Given the description of an element on the screen output the (x, y) to click on. 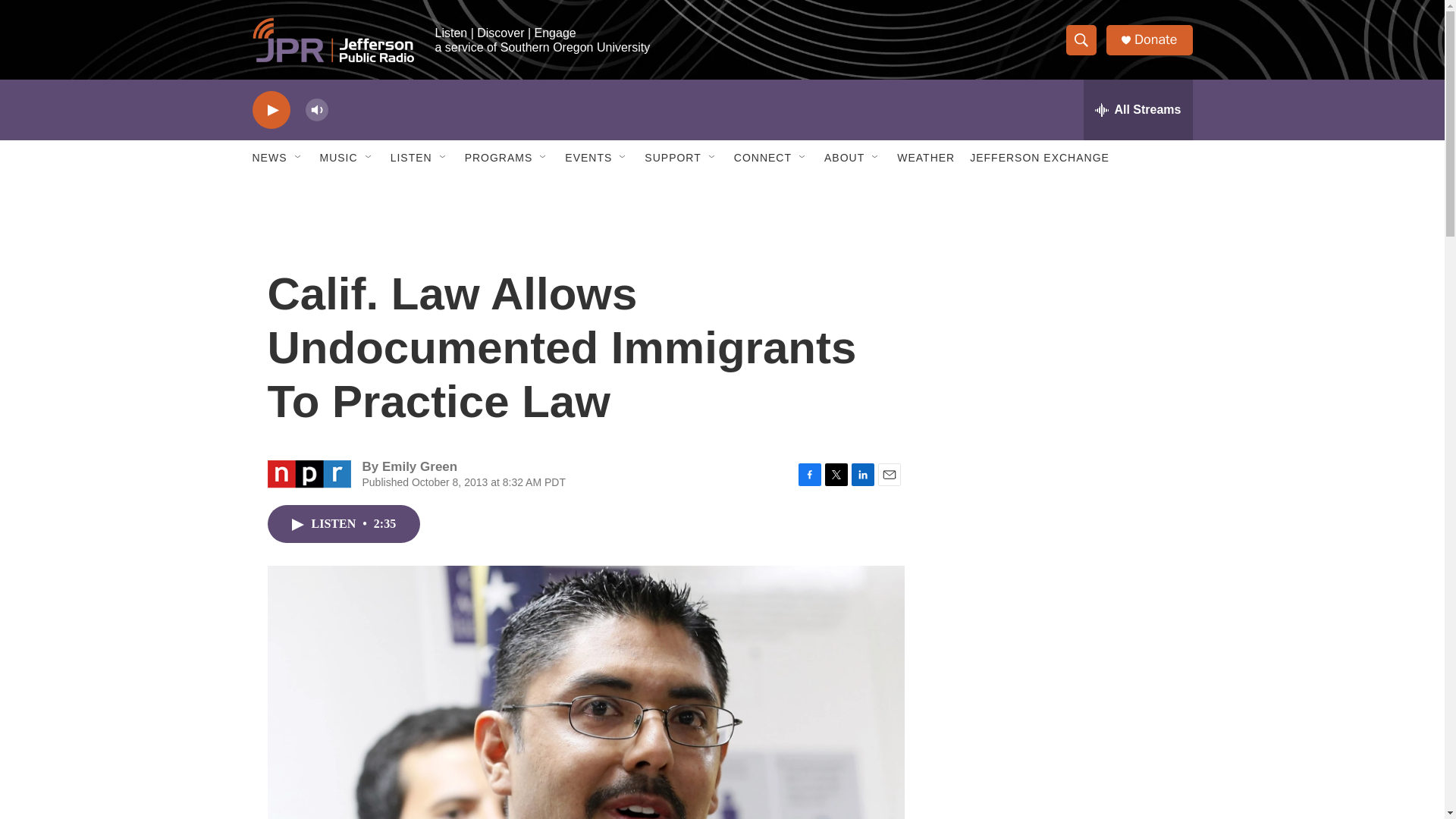
3rd party ad content (1062, 740)
3rd party ad content (1062, 536)
3rd party ad content (1062, 316)
